Given the description of an element on the screen output the (x, y) to click on. 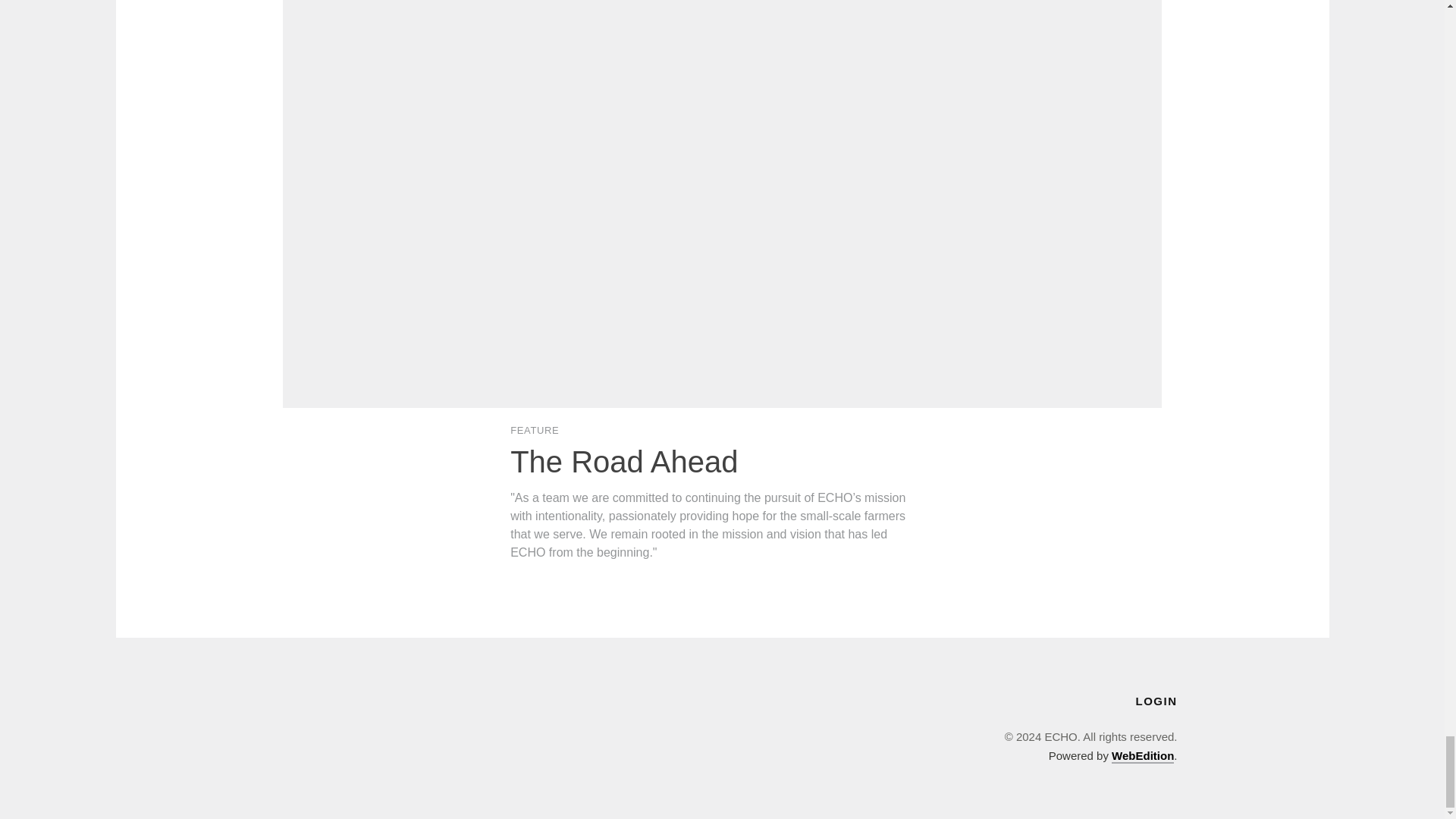
WebEdition (1142, 756)
LOGIN (1156, 700)
